Given the description of an element on the screen output the (x, y) to click on. 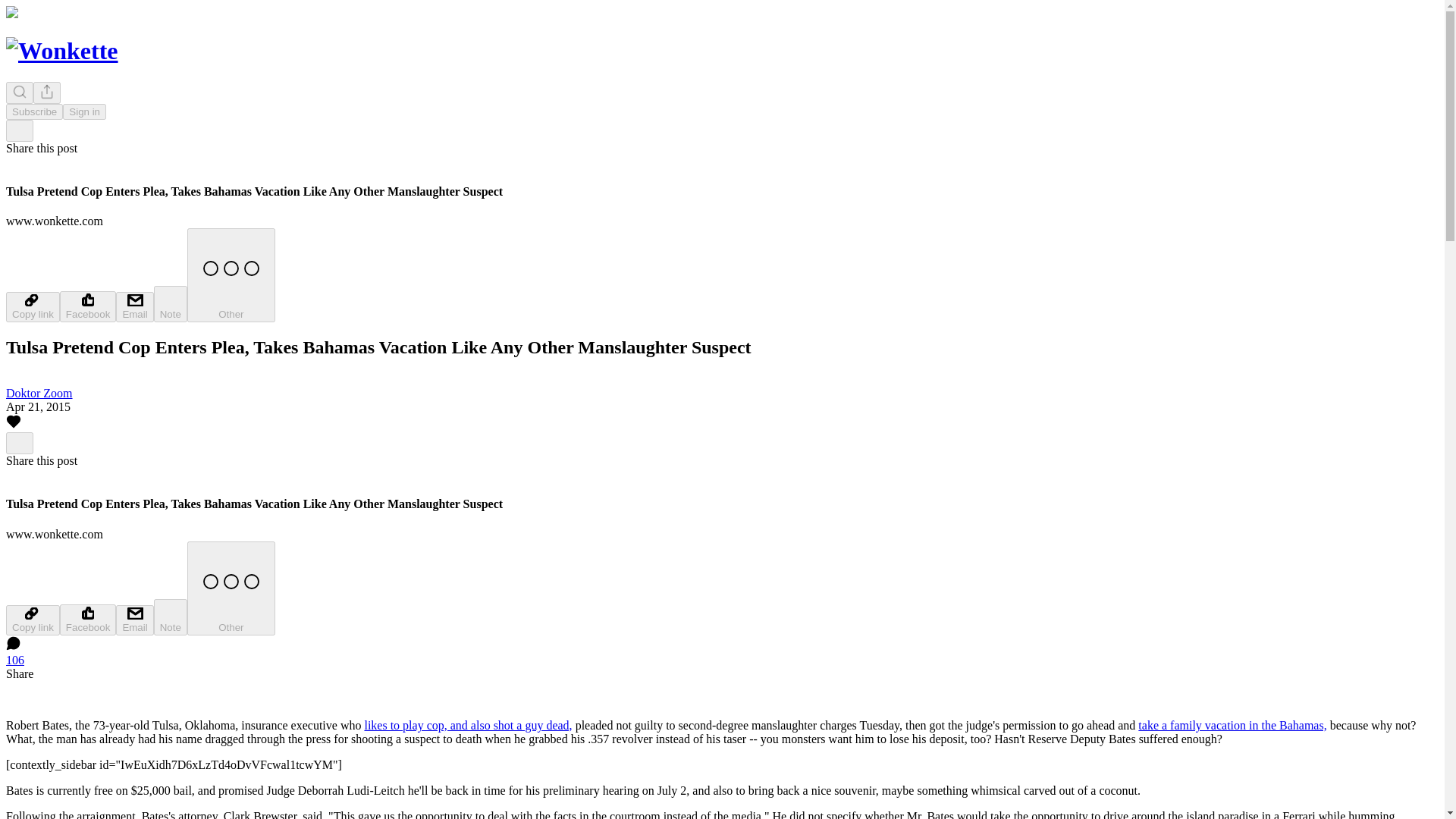
Copy link (32, 620)
Sign in (84, 111)
Facebook (87, 306)
Note (170, 616)
Facebook (87, 619)
Copy link (32, 306)
Note (170, 303)
Email (134, 620)
take a family vacation in the Bahamas, (1232, 725)
Email (134, 306)
